Given the description of an element on the screen output the (x, y) to click on. 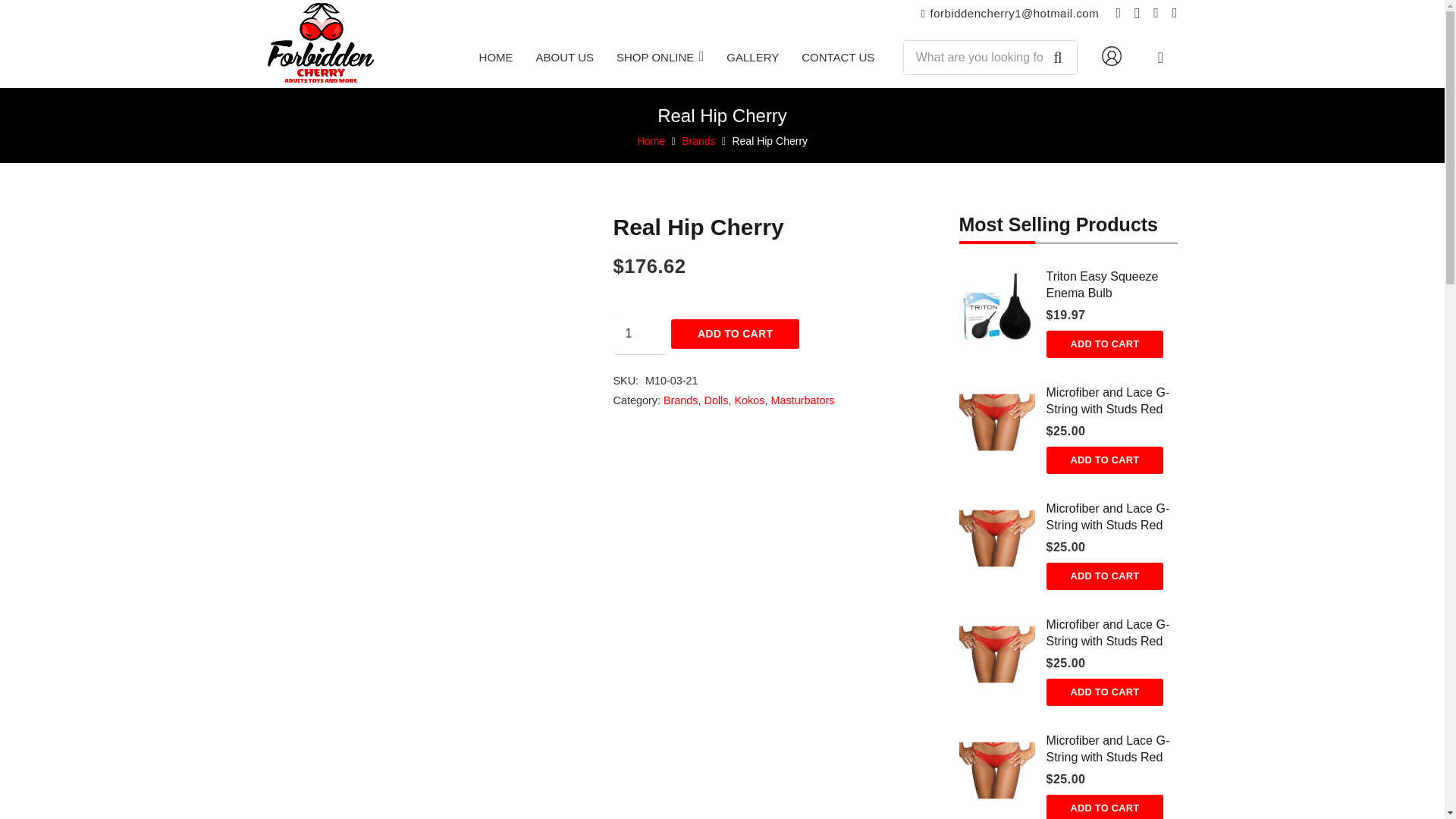
1 (639, 332)
ABOUT US (564, 57)
SHOP ONLINE (659, 57)
HOME (495, 57)
Qty (639, 332)
